Given the description of an element on the screen output the (x, y) to click on. 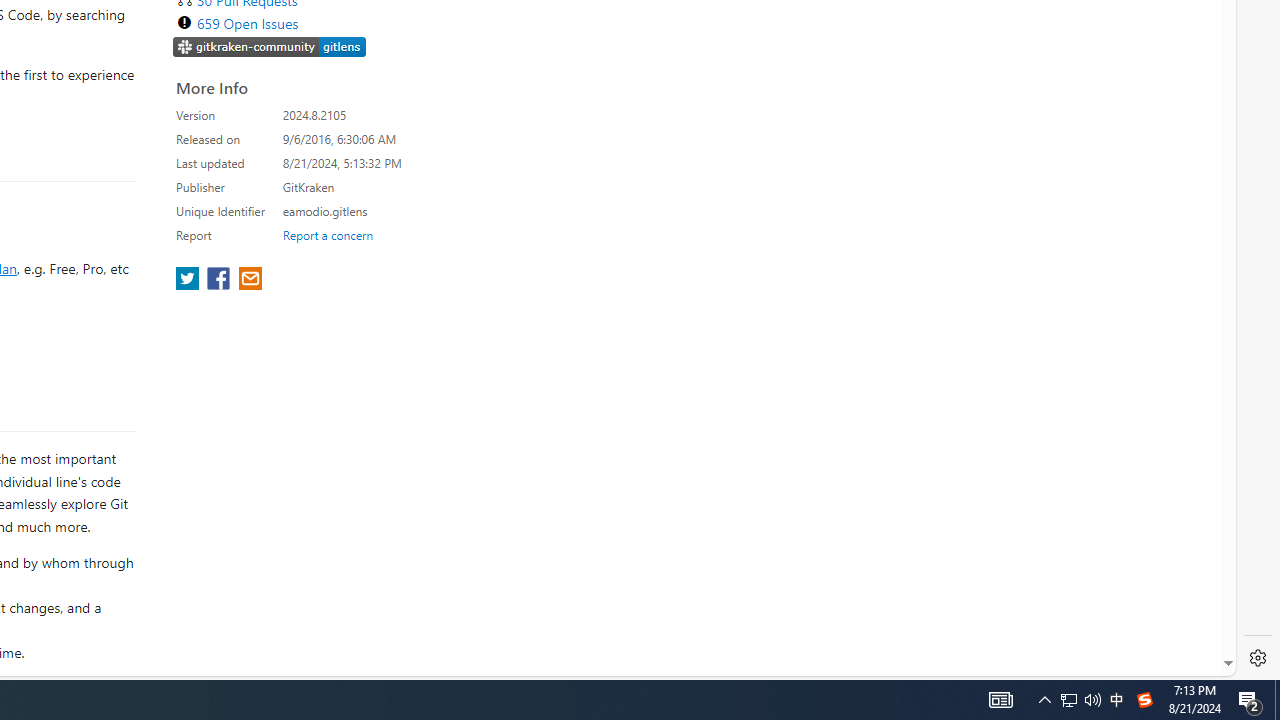
share extension on email (249, 280)
Report a concern (327, 234)
share extension on twitter (190, 280)
share extension on facebook (220, 280)
https://slack.gitkraken.com// (269, 46)
https://slack.gitkraken.com// (269, 48)
